Given the description of an element on the screen output the (x, y) to click on. 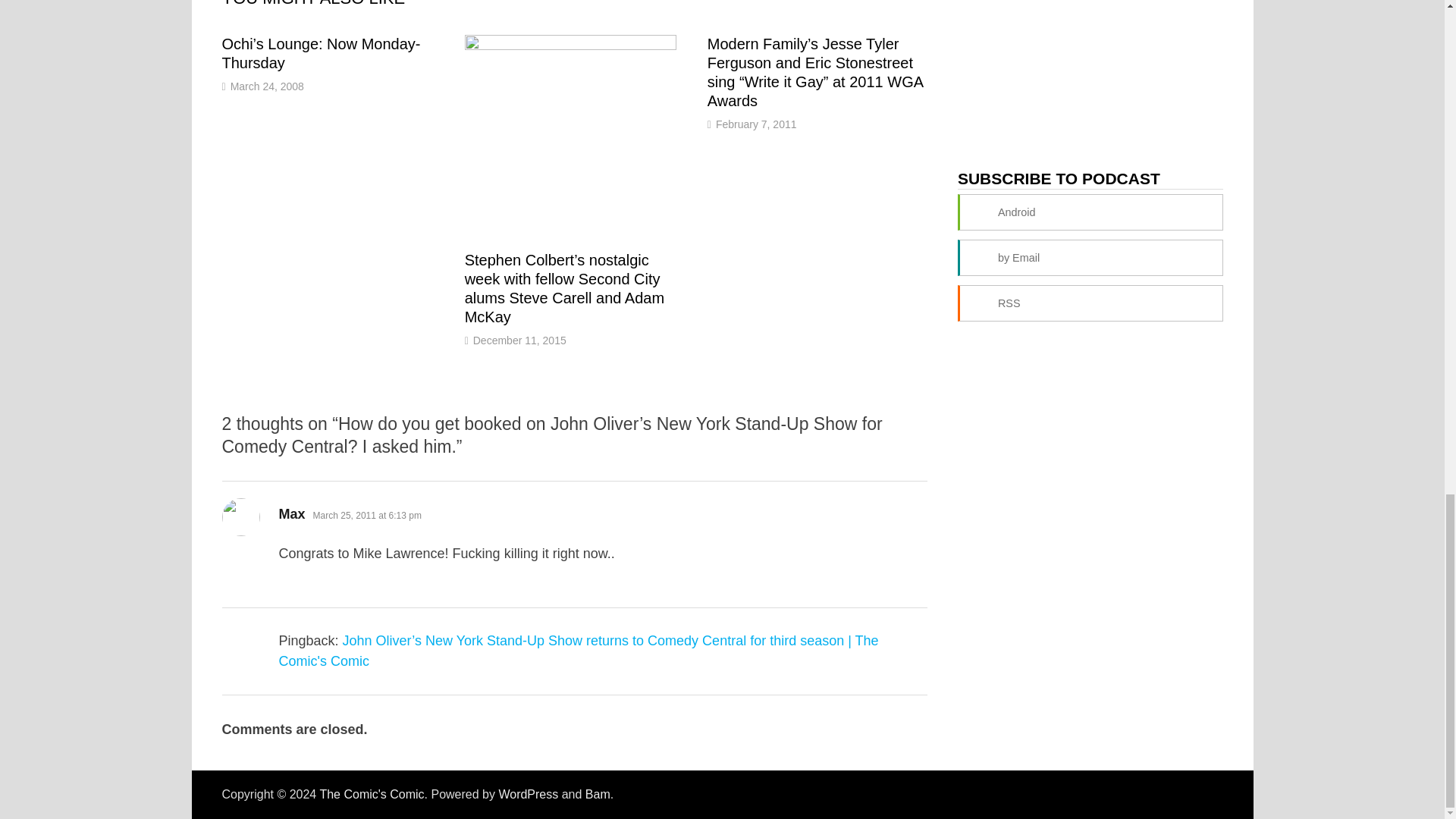
March 25, 2011 at 6:13 pm (367, 515)
December 11, 2015 (519, 340)
Subscribe on Android (1090, 212)
The Comic's Comic (370, 793)
Subscribe by Email (1090, 257)
February 7, 2011 (756, 123)
Subscribe via RSS (1090, 303)
March 24, 2008 (267, 86)
